Given the description of an element on the screen output the (x, y) to click on. 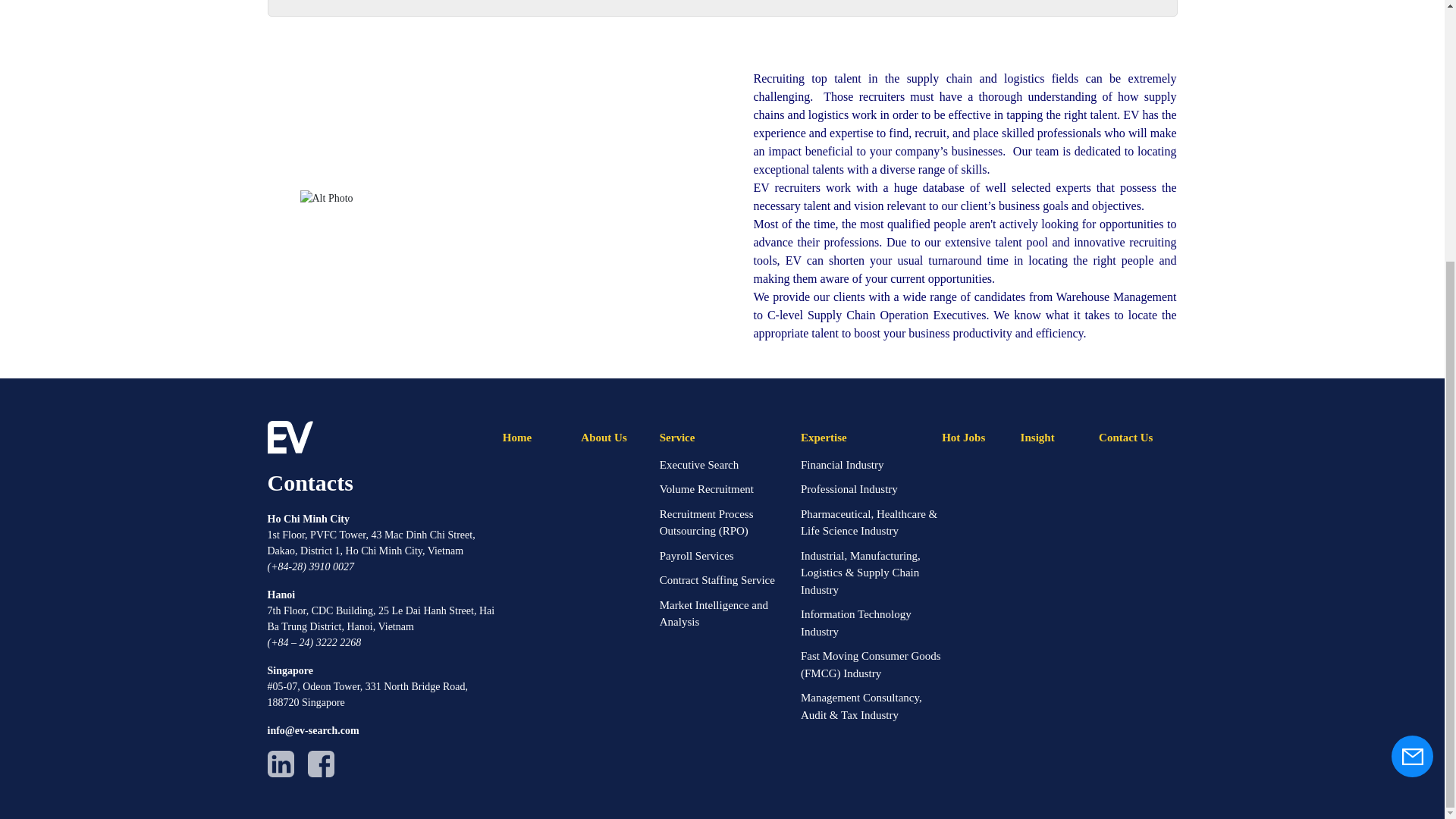
Home (516, 436)
About Us (603, 436)
